Given the description of an element on the screen output the (x, y) to click on. 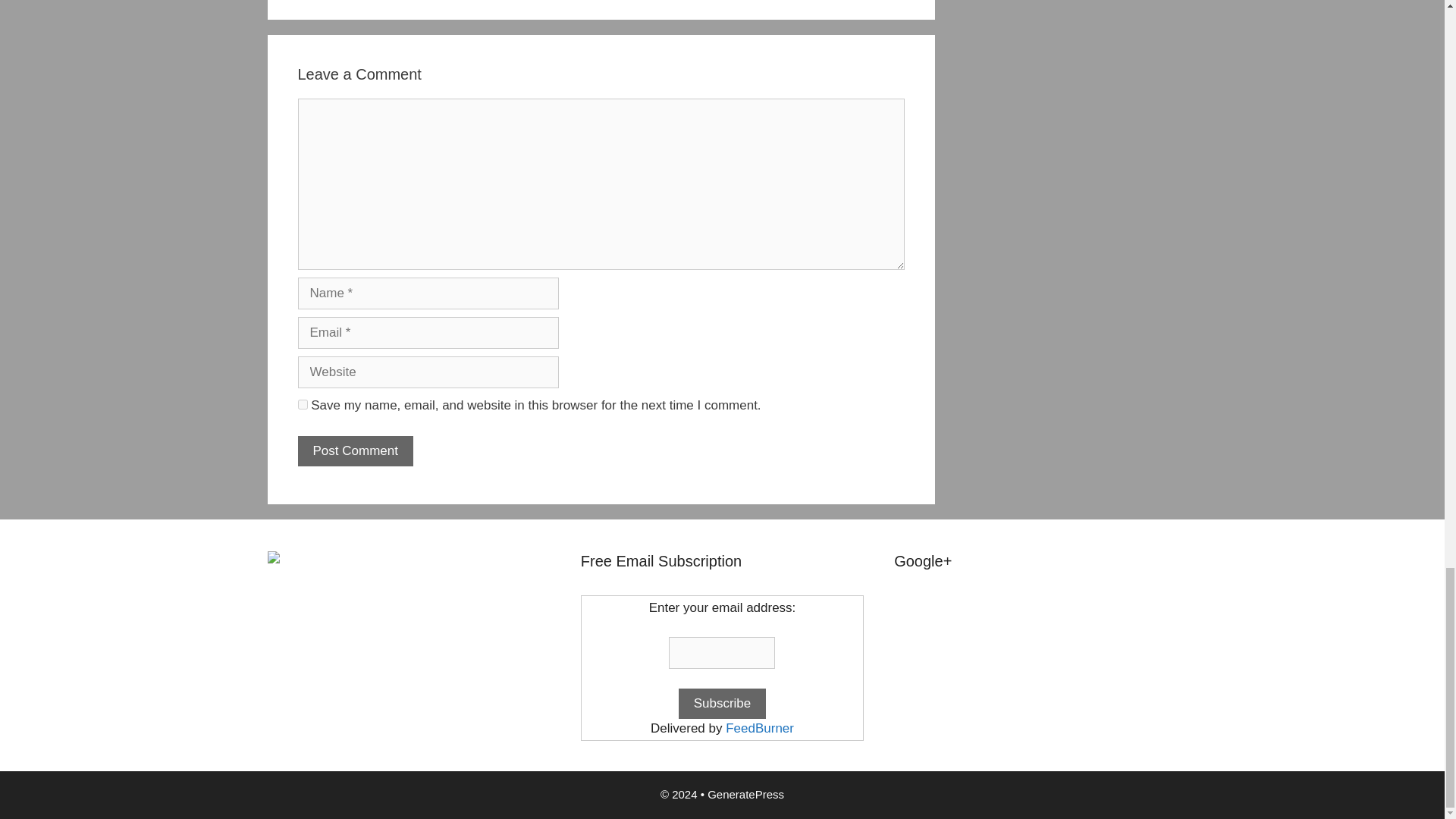
yes (302, 404)
GeneratePress (745, 793)
Post Comment (354, 450)
FeedBurner (759, 728)
Post Comment (354, 450)
Subscribe (722, 703)
Subscribe (722, 703)
